Given the description of an element on the screen output the (x, y) to click on. 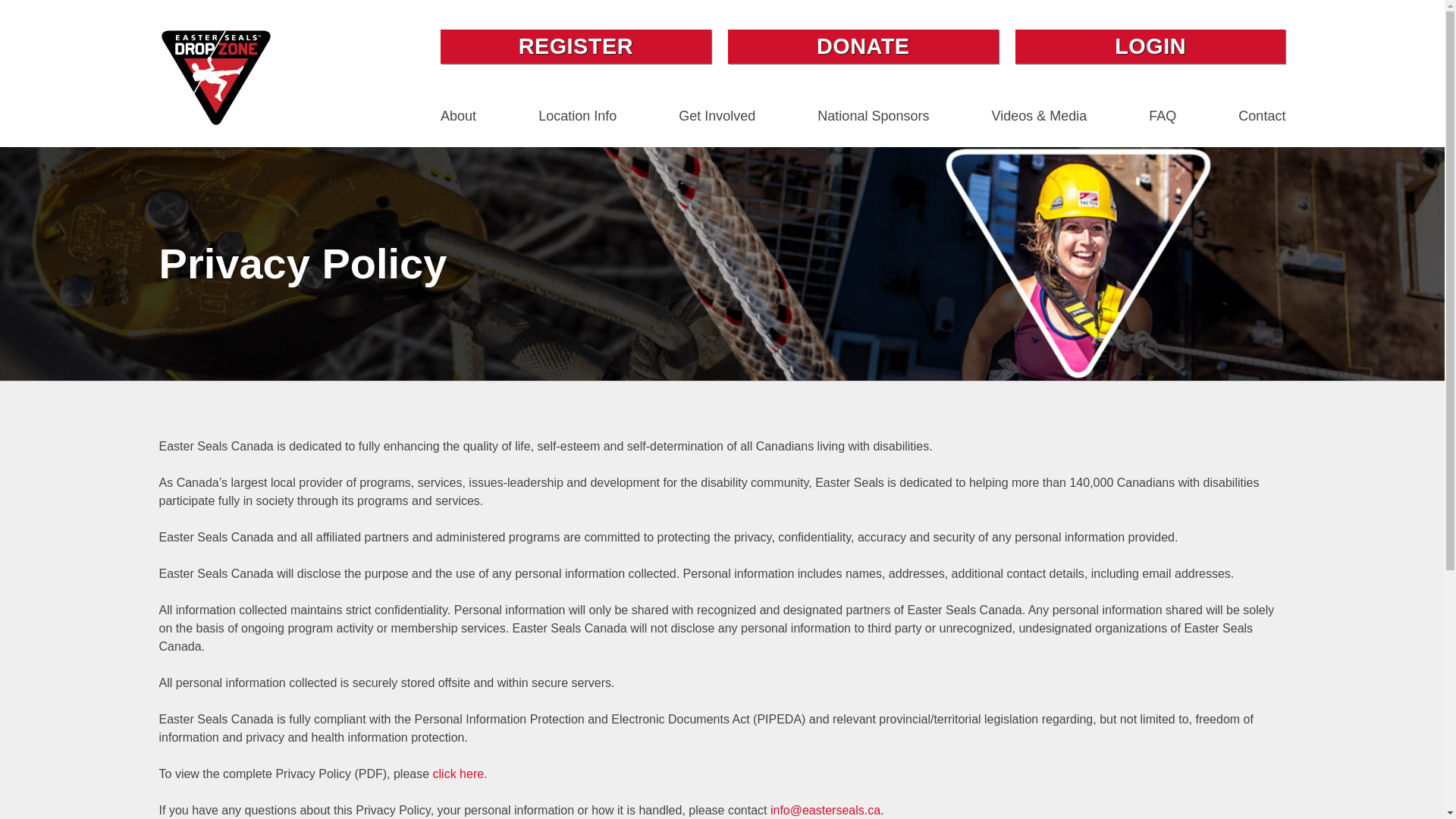
About (458, 116)
Location Info (576, 116)
DONATE (863, 46)
LOGIN (1149, 46)
REGISTER (576, 46)
